Given the description of an element on the screen output the (x, y) to click on. 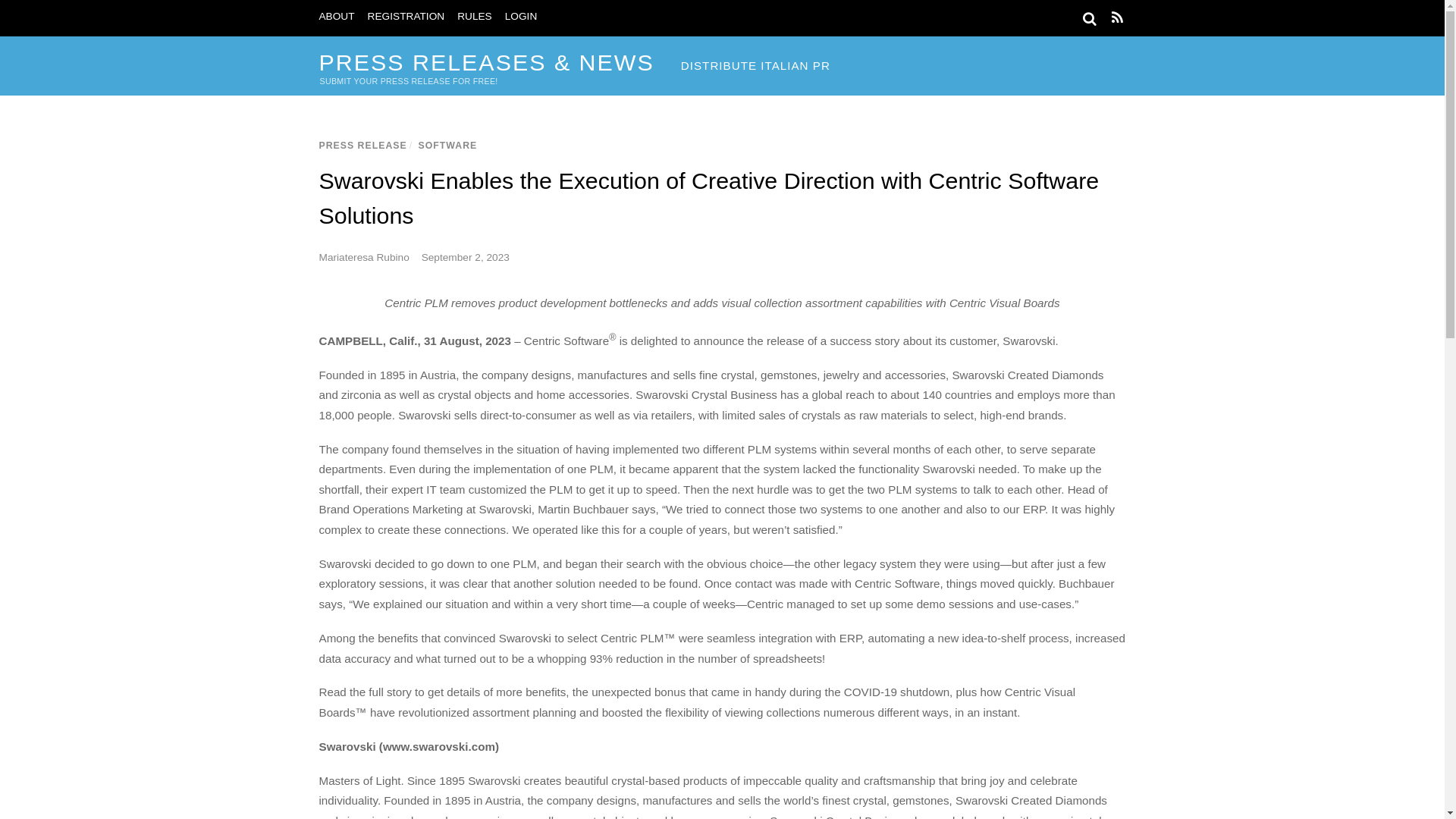
DISTRIBUTE ITALIAN PR (755, 66)
LOGIN (521, 16)
RULES (474, 16)
Mariateresa Rubino (363, 256)
SOFTWARE (448, 145)
REGISTRATION (406, 16)
PRESS RELEASE (362, 145)
ABOUT (335, 16)
